Given the description of an element on the screen output the (x, y) to click on. 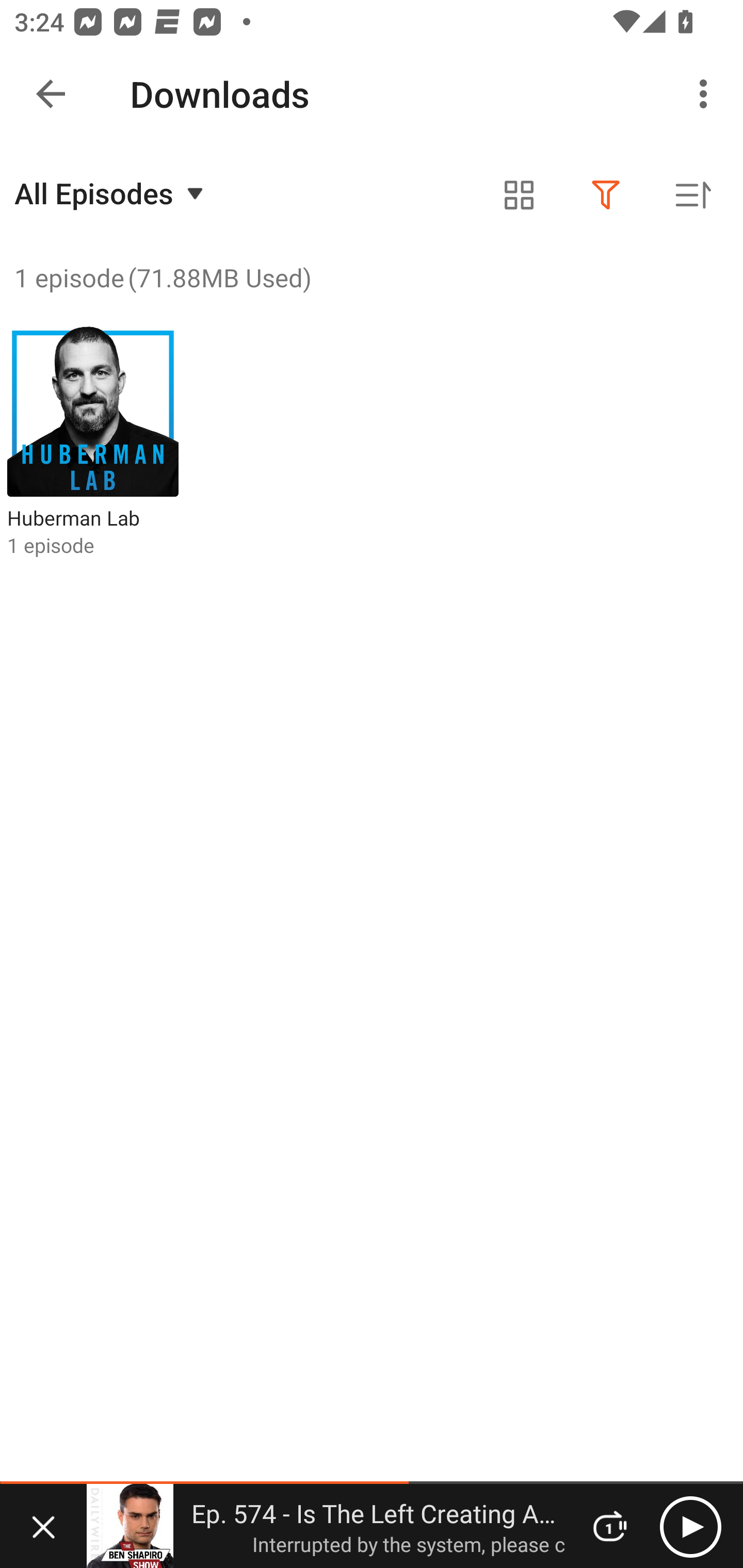
5.0 Downloading 4 episodes VIEW (371, 88)
Navigate up (50, 93)
More options (706, 93)
All Episodes (111, 192)
 (518, 195)
 (605, 195)
 Sorted by oldest first (692, 195)
Huberman Lab 1 episode (92, 442)
Play (690, 1526)
